Given the description of an element on the screen output the (x, y) to click on. 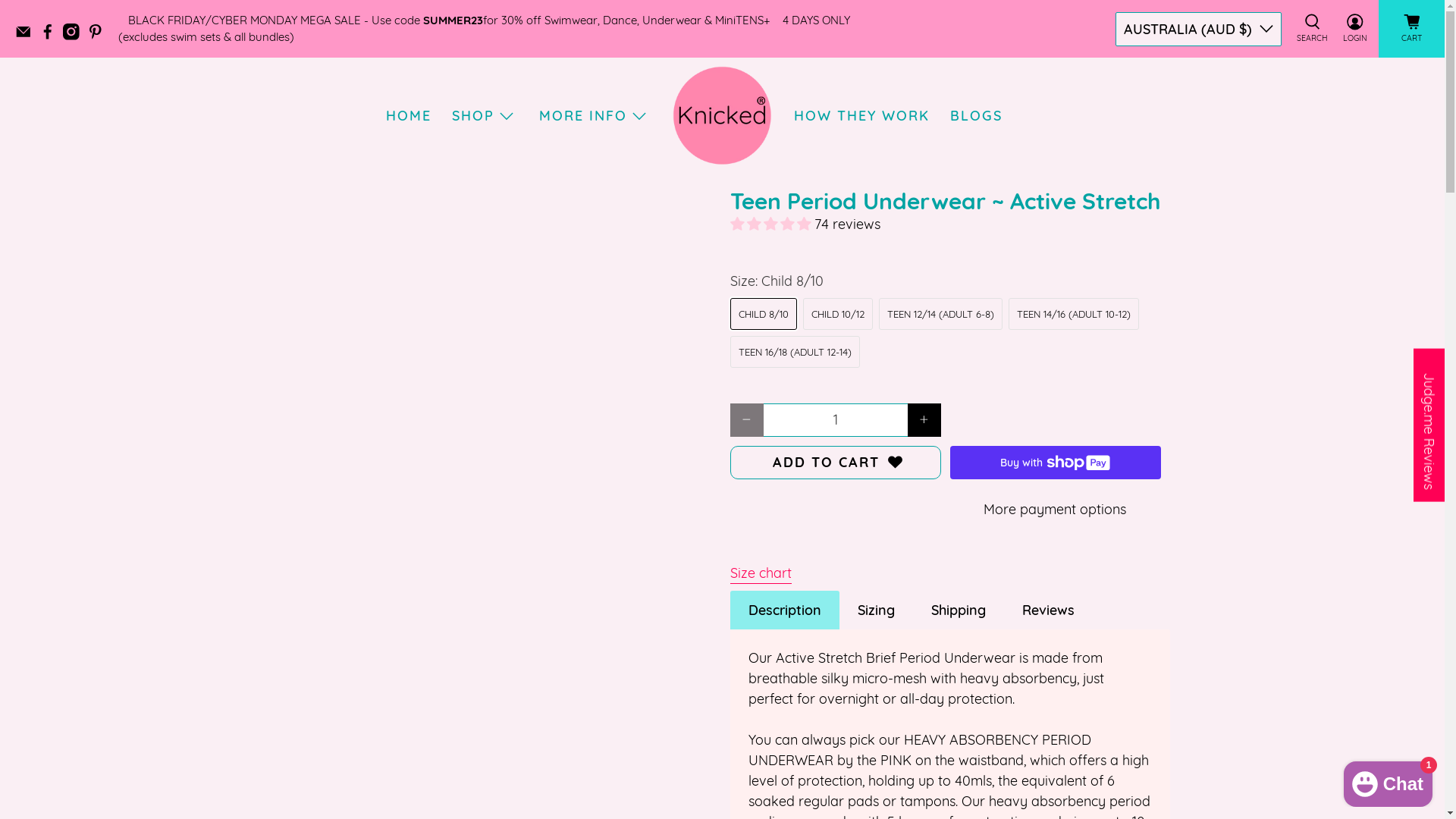
NZ Element type: text (1198, 110)
SHOP Element type: text (484, 115)
HOW THEY WORK Element type: text (862, 115)
Knicked Australia on Pinterest Element type: hover (99, 35)
Email Knicked Australia Element type: hover (27, 35)
US Element type: text (1198, 160)
Knicked Australia on Facebook Element type: hover (51, 35)
BLOGS Element type: text (976, 115)
ADD TO CART Element type: text (834, 462)
Shopify online store chat Element type: hover (1388, 780)
AU Element type: text (1198, 69)
CART Element type: text (1411, 28)
Size chart Element type: text (759, 565)
Knicked Australia on Instagram Element type: hover (74, 35)
SEARCH Element type: text (1312, 28)
AUSTRALIA (AUD $) Element type: text (1198, 29)
LOGIN Element type: text (1354, 28)
Knicked Australia Element type: hover (722, 115)
More payment options Element type: text (1054, 508)
MORE INFO Element type: text (594, 115)
HOME Element type: text (409, 115)
